Given the description of an element on the screen output the (x, y) to click on. 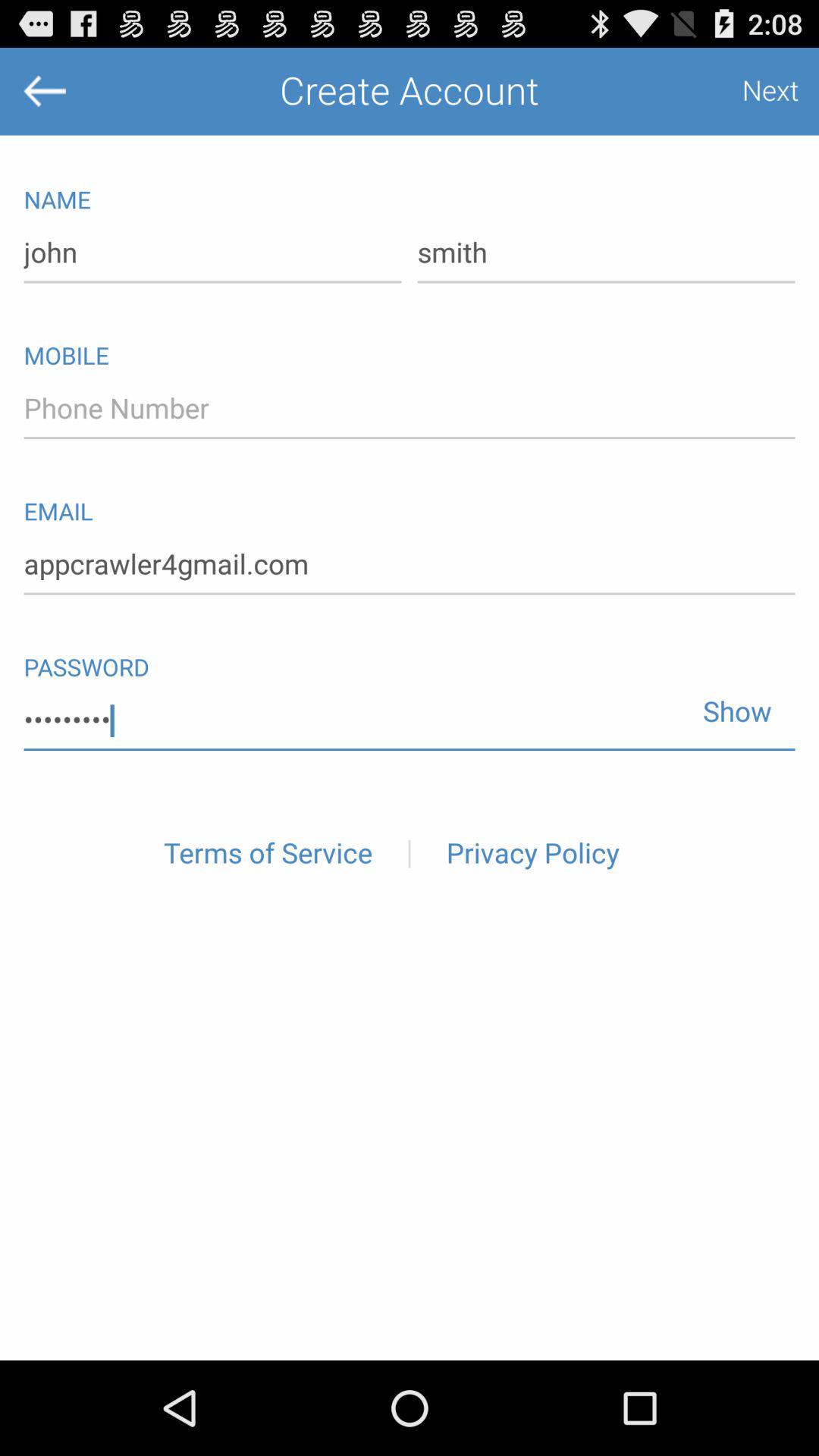
choose show icon (731, 704)
